Given the description of an element on the screen output the (x, y) to click on. 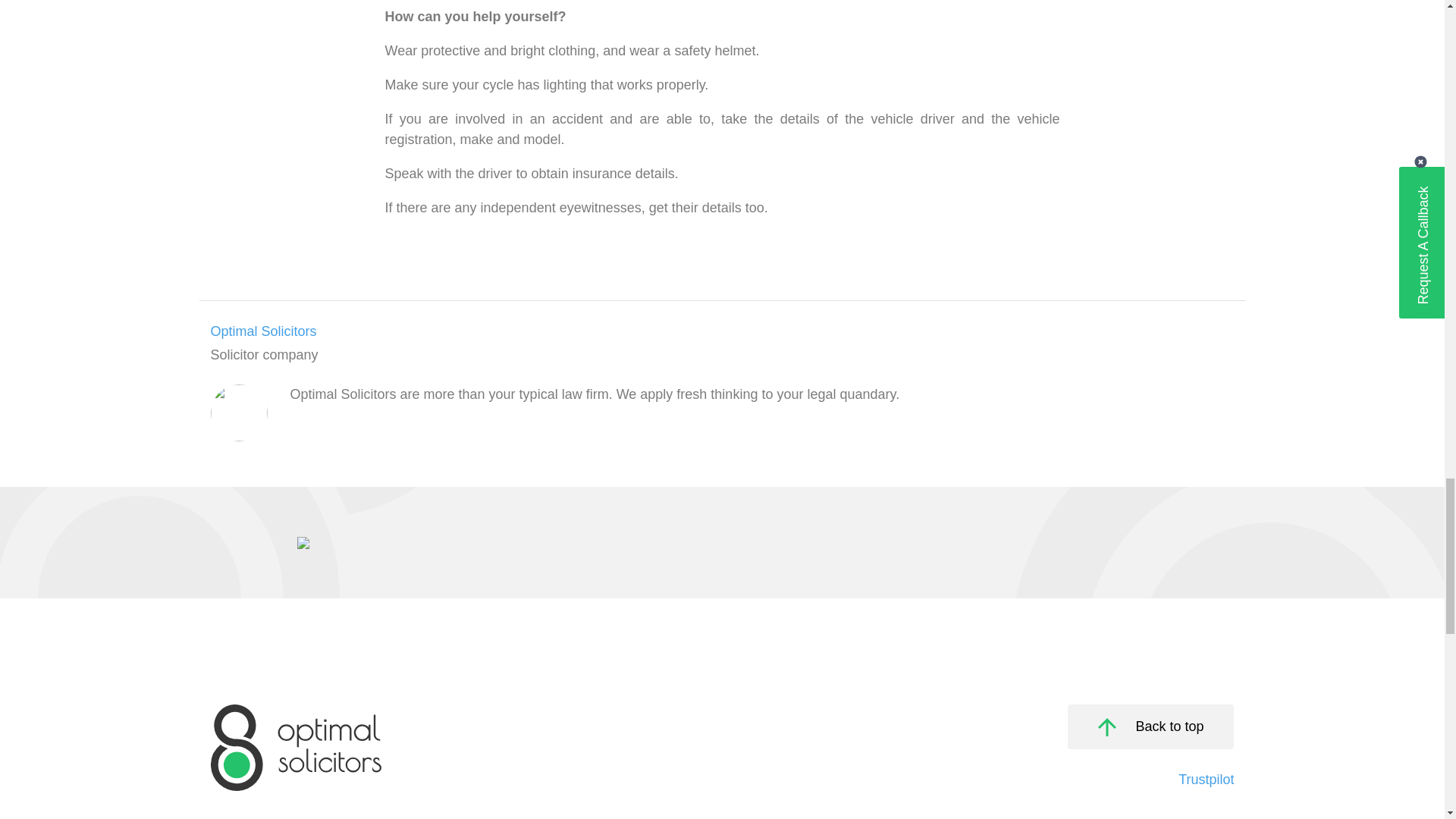
Back to top (1150, 726)
